Given the description of an element on the screen output the (x, y) to click on. 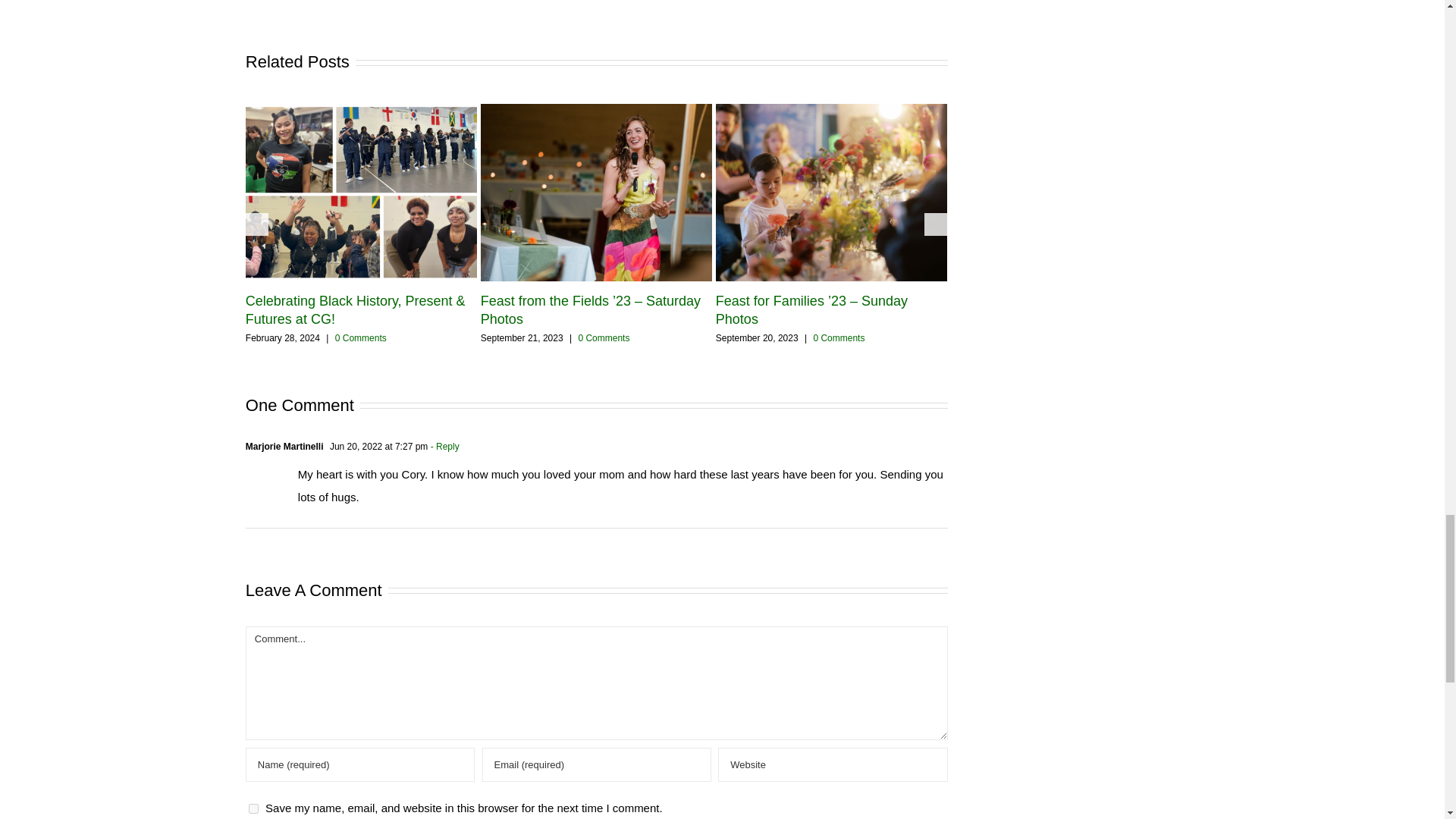
yes (253, 808)
